Given the description of an element on the screen output the (x, y) to click on. 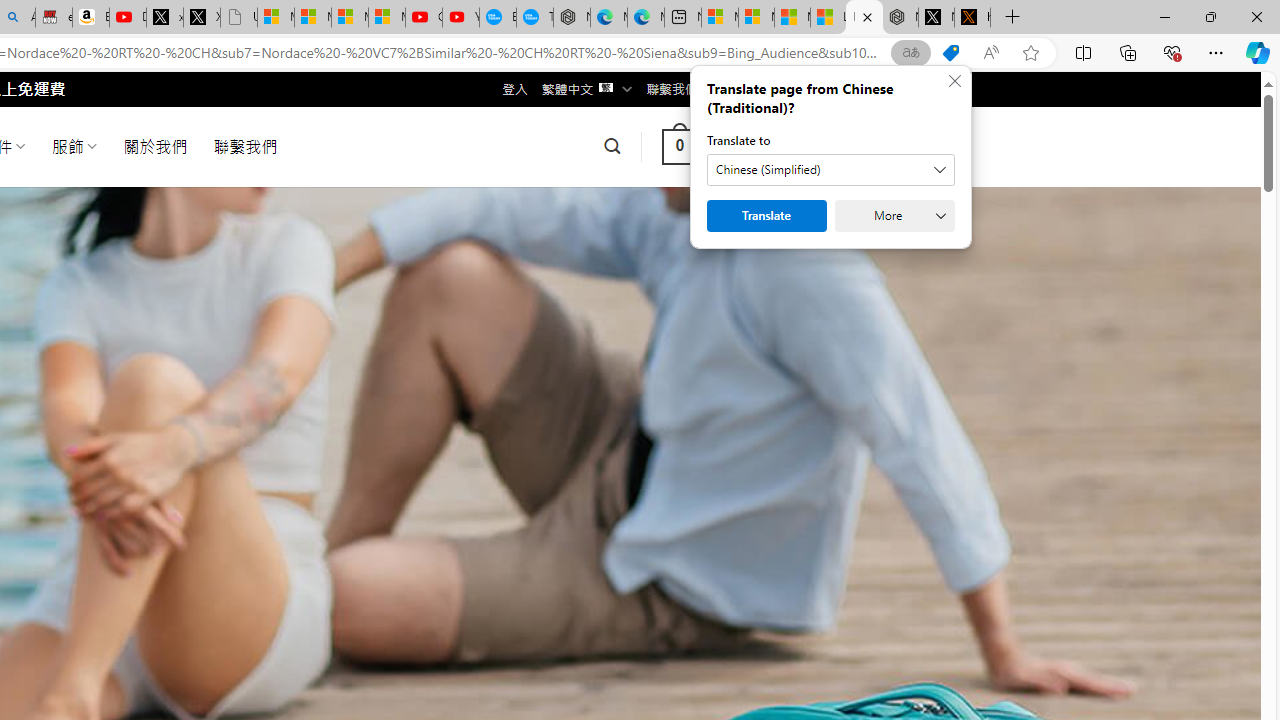
YouTube Kids - An App Created for Kids to Explore Content (460, 17)
This site has coupons! Shopping in Microsoft Edge (950, 53)
help.x.com | 524: A timeout occurred (971, 17)
Translate (766, 215)
Nordace - Nordace has arrived Hong Kong (572, 17)
